Given the description of an element on the screen output the (x, y) to click on. 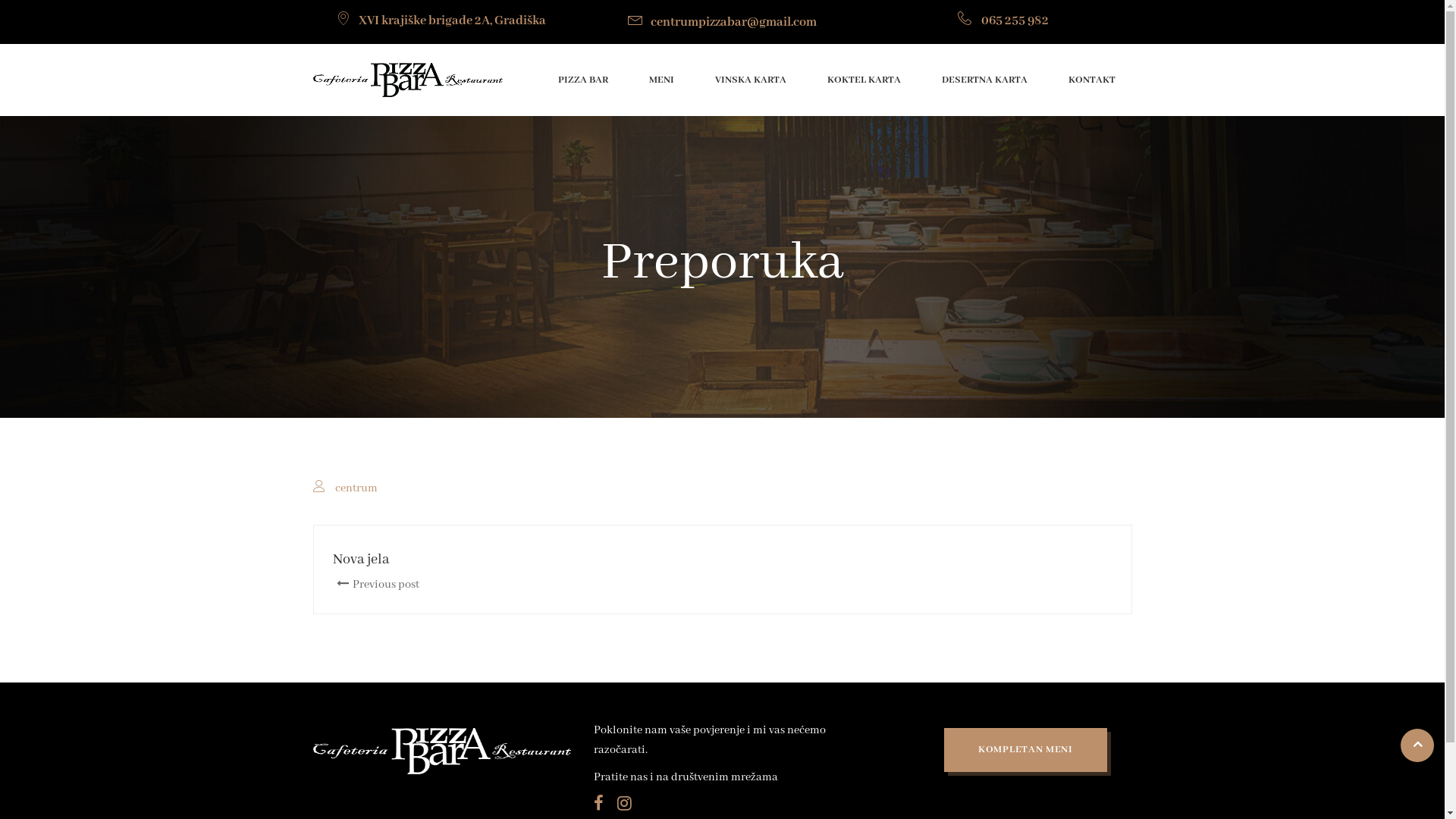
VINSKA KARTA Element type: text (749, 79)
Nova jela
Previous post Element type: text (511, 569)
centrum Element type: text (356, 488)
KOKTEL KARTA Element type: text (863, 79)
PIZZA BAR Element type: text (583, 79)
KOMPLETAN MENI Element type: text (1025, 749)
centrumpizzabar@gmail.com Element type: text (721, 22)
DESERTNA KARTA Element type: text (984, 79)
065 255 982 Element type: text (1002, 20)
KONTAKT Element type: text (1090, 79)
MENI Element type: text (661, 79)
